Given the description of an element on the screen output the (x, y) to click on. 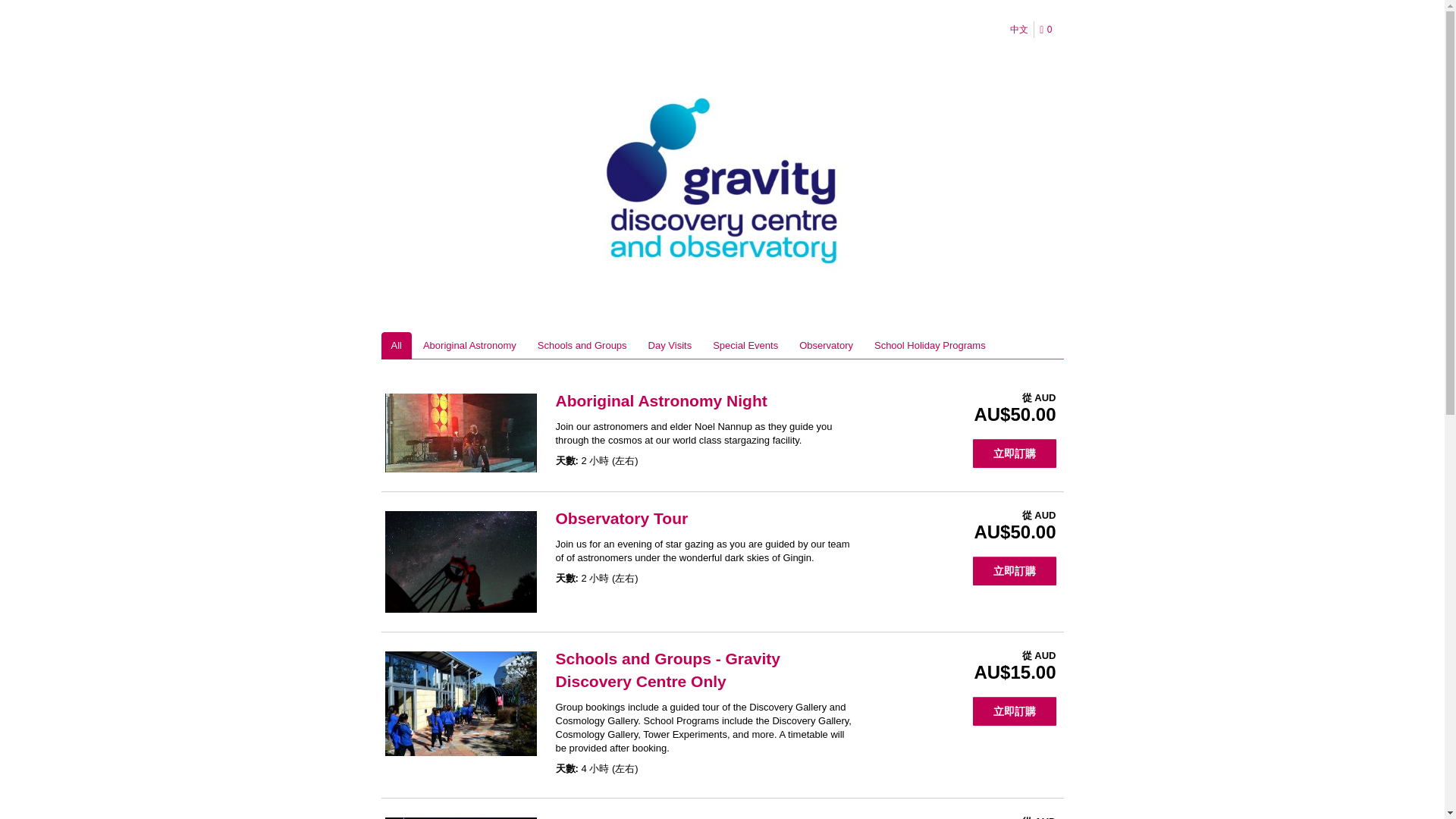
All (395, 345)
Aboriginal Astronomy (469, 345)
Special Events (745, 345)
Aboriginal Astronomy Night (660, 400)
Schools and Groups - Gravity Discovery Centre Only (666, 670)
Observatory Tour (620, 518)
0 (1047, 30)
Observatory (826, 345)
School Holiday Programs (929, 345)
Day Visits (670, 345)
Schools and Groups (582, 345)
